Given the description of an element on the screen output the (x, y) to click on. 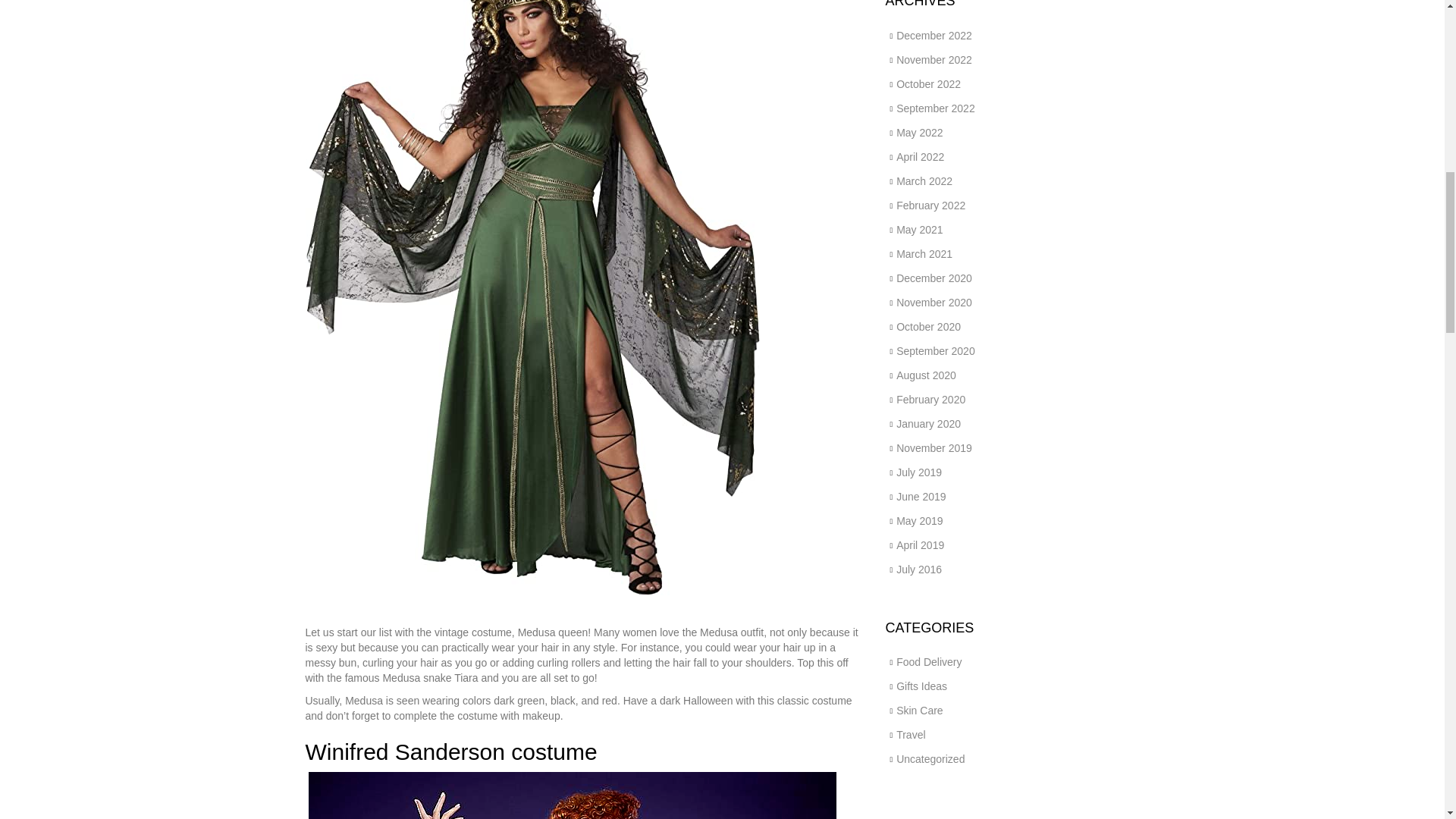
December 2022 (934, 35)
October 2022 (928, 83)
Winifred Sanderson costume  (454, 751)
September 2022 (935, 108)
November 2022 (934, 60)
May 2022 (919, 132)
